Given the description of an element on the screen output the (x, y) to click on. 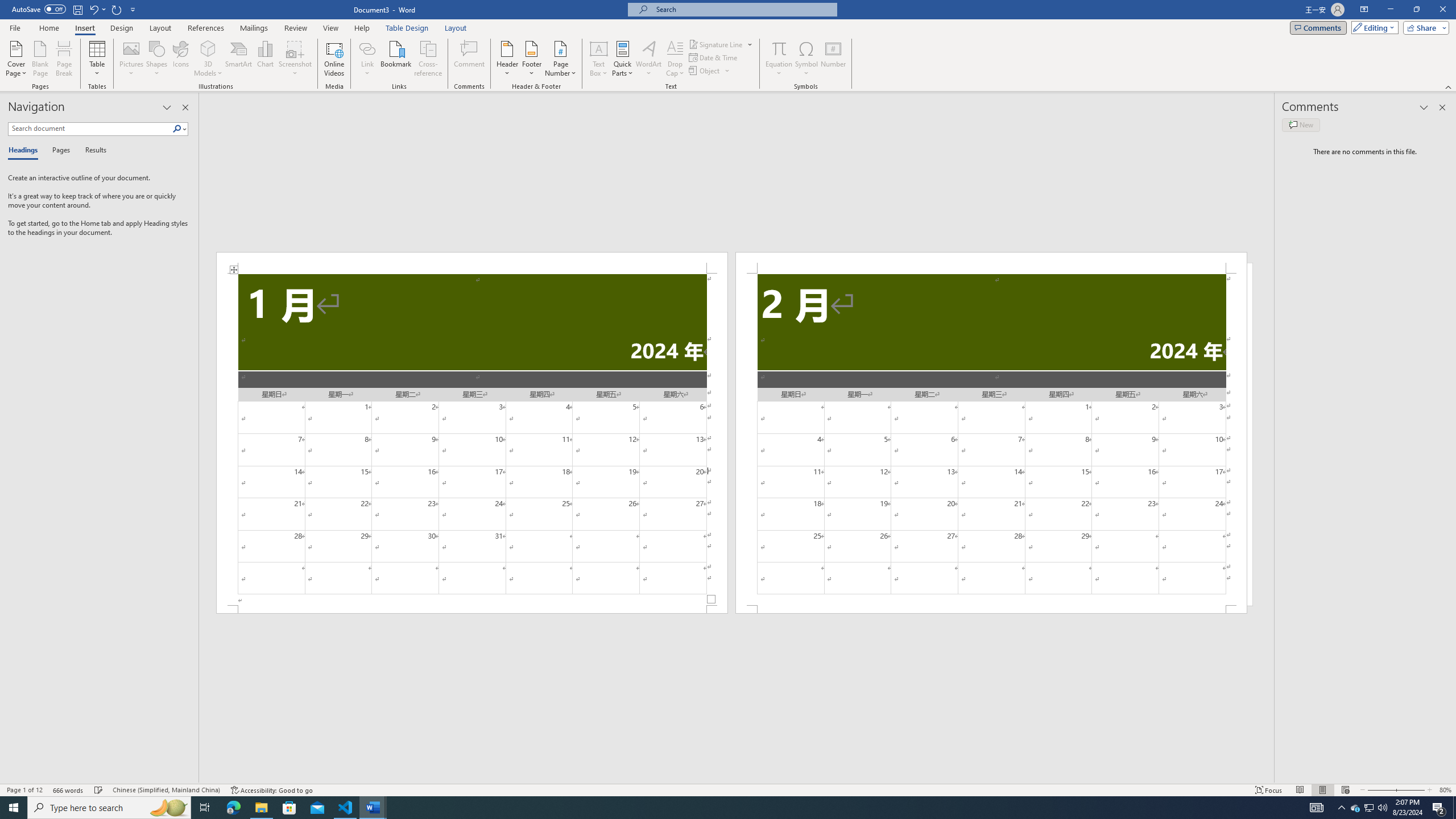
3D Models (208, 48)
More Options (778, 68)
Cross-reference... (428, 58)
Online Videos... (333, 58)
Comments (1318, 27)
Minimize (1390, 9)
Search (179, 128)
Search (177, 128)
Link (367, 48)
WordArt (648, 58)
Insert (83, 28)
Close pane (185, 107)
Page 1 content (471, 439)
Equation (778, 58)
